Given the description of an element on the screen output the (x, y) to click on. 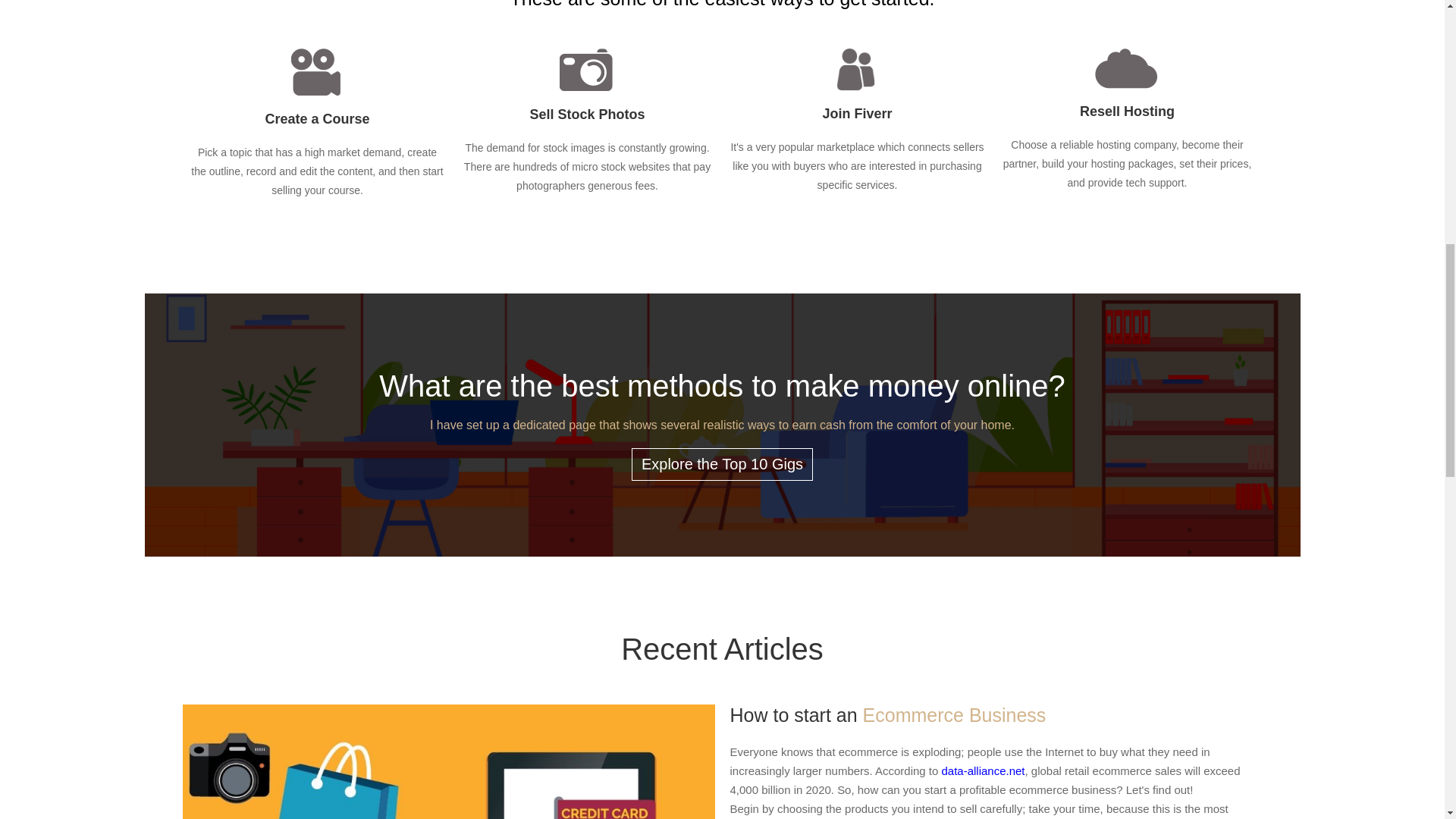
Explore the Top 10 Gigs (721, 463)
data-alliance.net (983, 769)
